Given the description of an element on the screen output the (x, y) to click on. 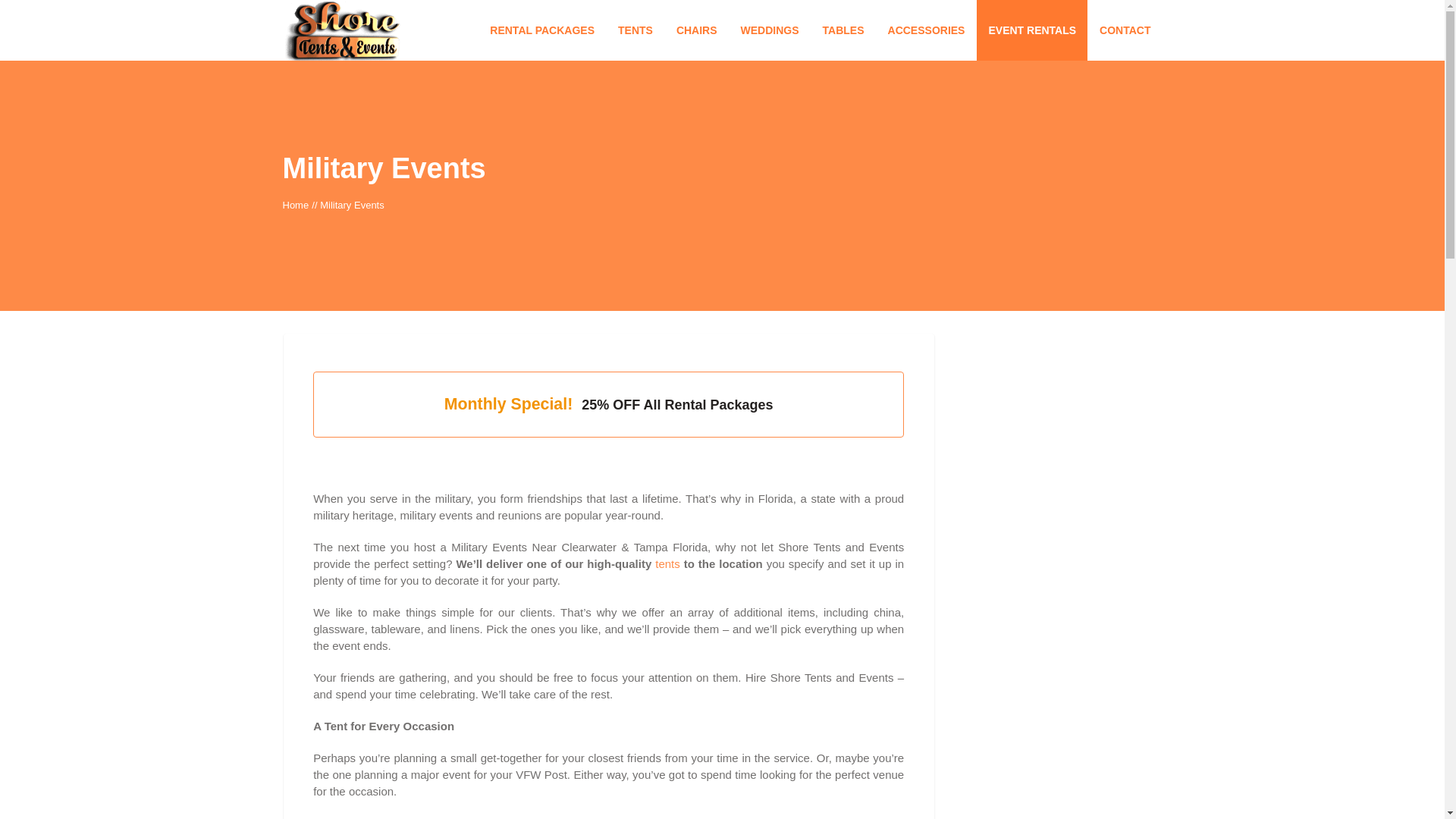
Tent Accessories (926, 30)
Our Events (1031, 30)
Table Rentals (843, 30)
EVENT RENTALS (1031, 30)
Package Deals (542, 30)
ACCESSORIES (926, 30)
Tent Rentals (635, 30)
Chair Rentals (697, 30)
Wedding Rentals (769, 30)
WEDDINGS (769, 30)
TABLES (843, 30)
Home (295, 204)
CHAIRS (697, 30)
CONTACT (1124, 30)
TENTS (635, 30)
